Given the description of an element on the screen output the (x, y) to click on. 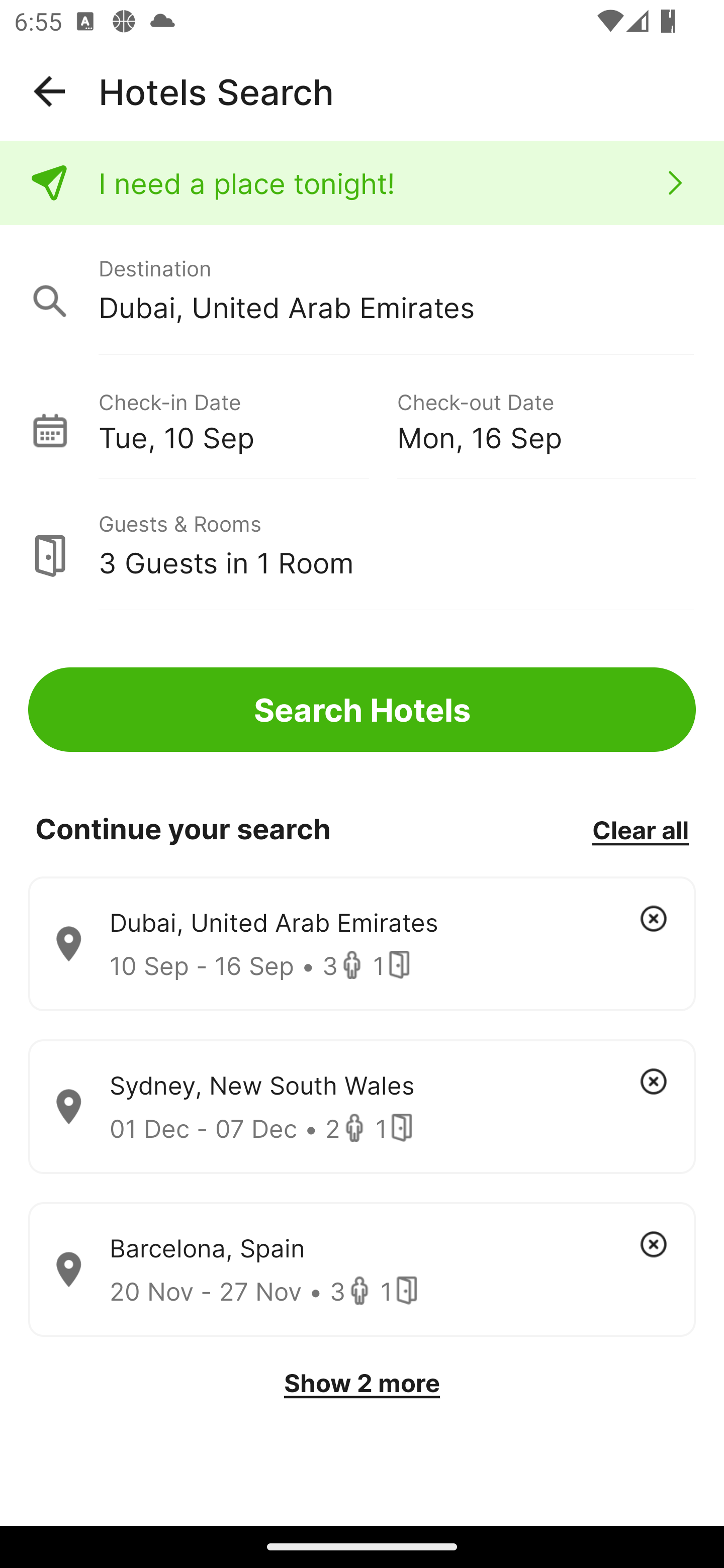
I need a place tonight! (362, 183)
Destination Dubai, United Arab Emirates (362, 290)
Check-in Date Tue, 10 Sep (247, 418)
Check-out Date Mon, 16 Sep (546, 418)
Guests & Rooms 3 Guests in 1 Room (362, 545)
Search Hotels (361, 709)
Clear all (640, 829)
Sydney, New South Wales 01 Dec - 07 Dec • 2  1  (361, 1106)
Barcelona, Spain 20 Nov - 27 Nov • 3  1  (361, 1269)
Show 2 more (362, 1382)
